Given the description of an element on the screen output the (x, y) to click on. 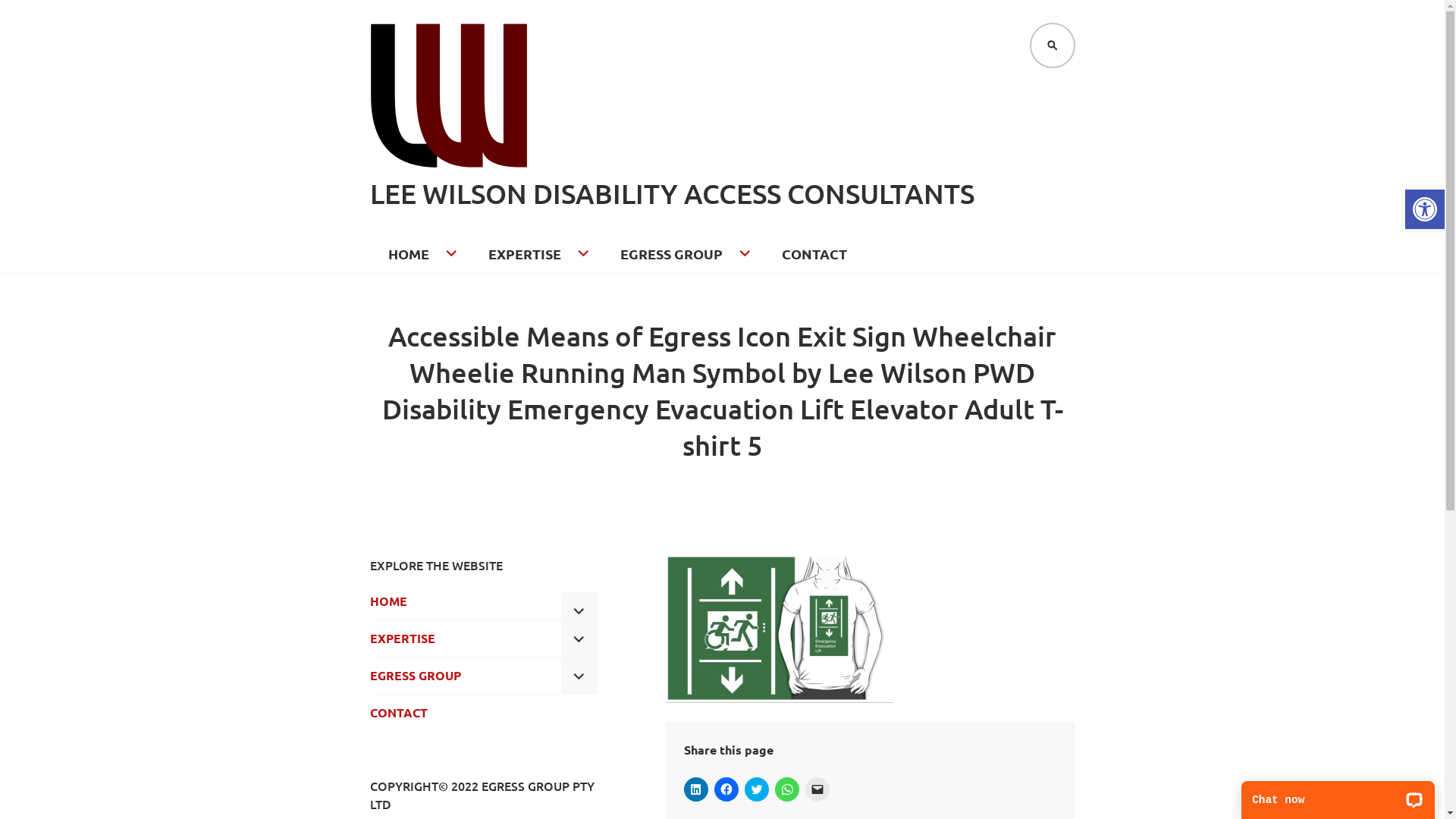
EGRESS GROUP Element type: text (682, 253)
Click to share on LinkedIn (Opens in new window) Element type: text (696, 789)
LEE WILSON DISABILITY ACCESS CONSULTANTS Element type: text (672, 193)
EXPERTISE Element type: text (459, 638)
HOME Element type: text (420, 253)
EXPERTISE Element type: text (536, 253)
EGRESS GROUP Element type: text (459, 675)
Click to share on Facebook (Opens in new window) Element type: text (726, 789)
EXPAND CHILD MENU Element type: text (579, 610)
SEARCH Element type: text (1052, 45)
HOME Element type: text (459, 601)
Click to email a link to a friend (Opens in new window) Element type: text (817, 789)
EXPAND CHILD MENU Element type: text (579, 638)
CONTACT Element type: text (483, 712)
CONTACT Element type: text (813, 253)
Click to share on WhatsApp (Opens in new window) Element type: text (787, 789)
EXPAND CHILD MENU Element type: text (579, 675)
Click to share on Twitter (Opens in new window) Element type: text (756, 789)
Open toolbar
Accessibility Tools Element type: text (1424, 209)
